Given the description of an element on the screen output the (x, y) to click on. 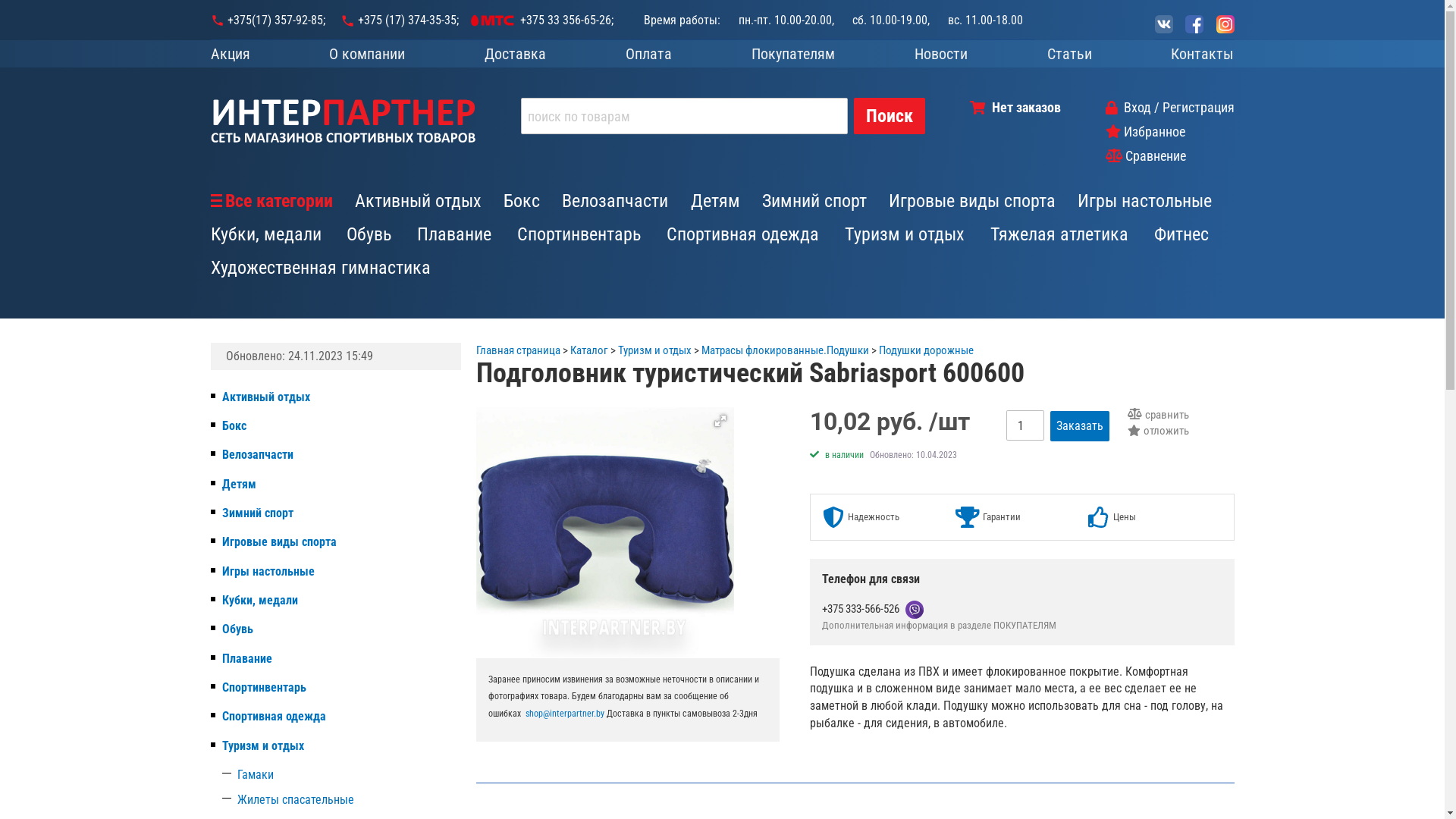
shop@interpartner.by Element type: text (563, 713)
+375(17) 357-92-85; Element type: text (276, 20)
 +375 (17) 374-35-35; Element type: text (398, 20)
+375 33 356-65-26; Element type: text (566, 20)
